Given the description of an element on the screen output the (x, y) to click on. 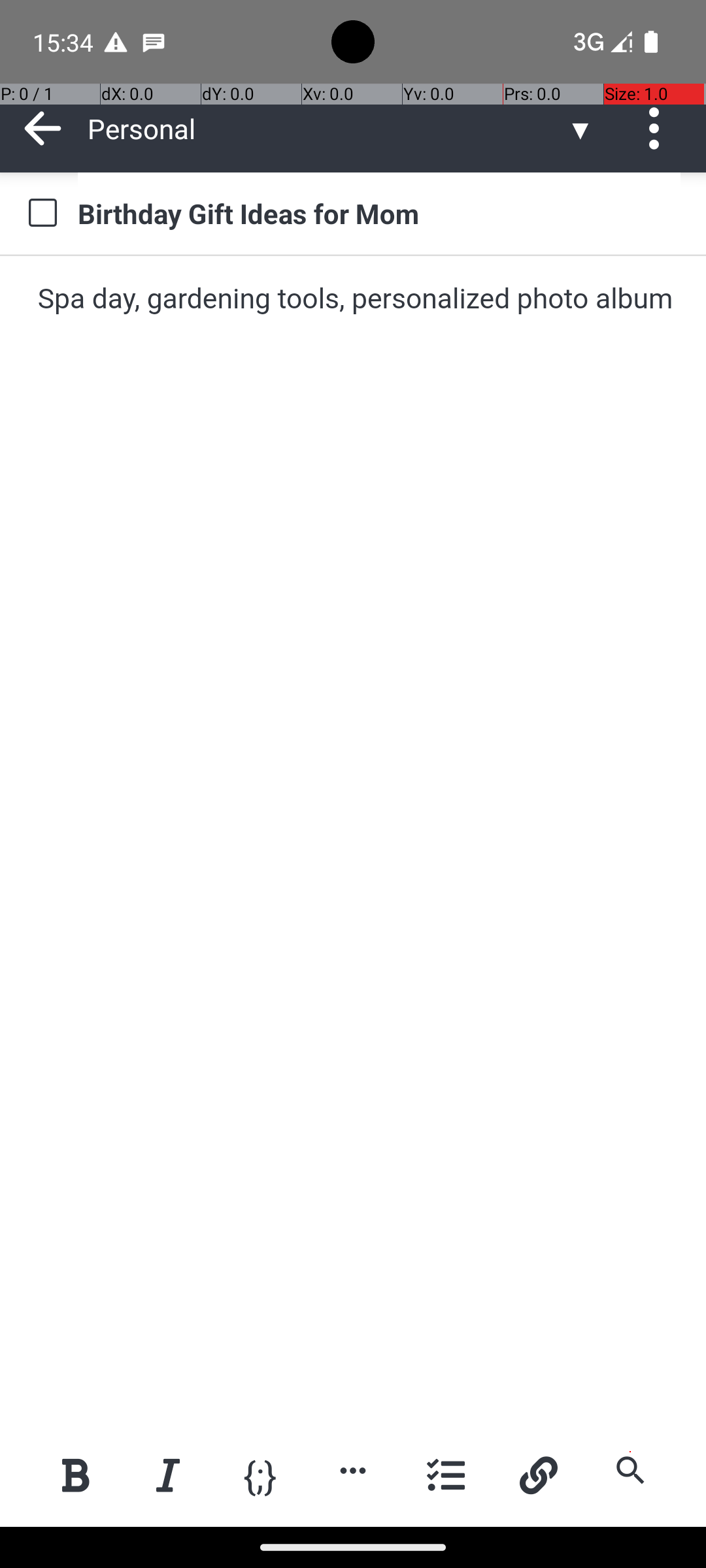
Birthday Gift Ideas for Mom Element type: android.widget.EditText (378, 213)
Find and replace Element type: android.widget.Button (630, 1470)
Personal Element type: android.widget.TextView (326, 128)
Spa day, gardening tools, personalized photo album Element type: android.widget.EditText (354, 298)
